Given the description of an element on the screen output the (x, y) to click on. 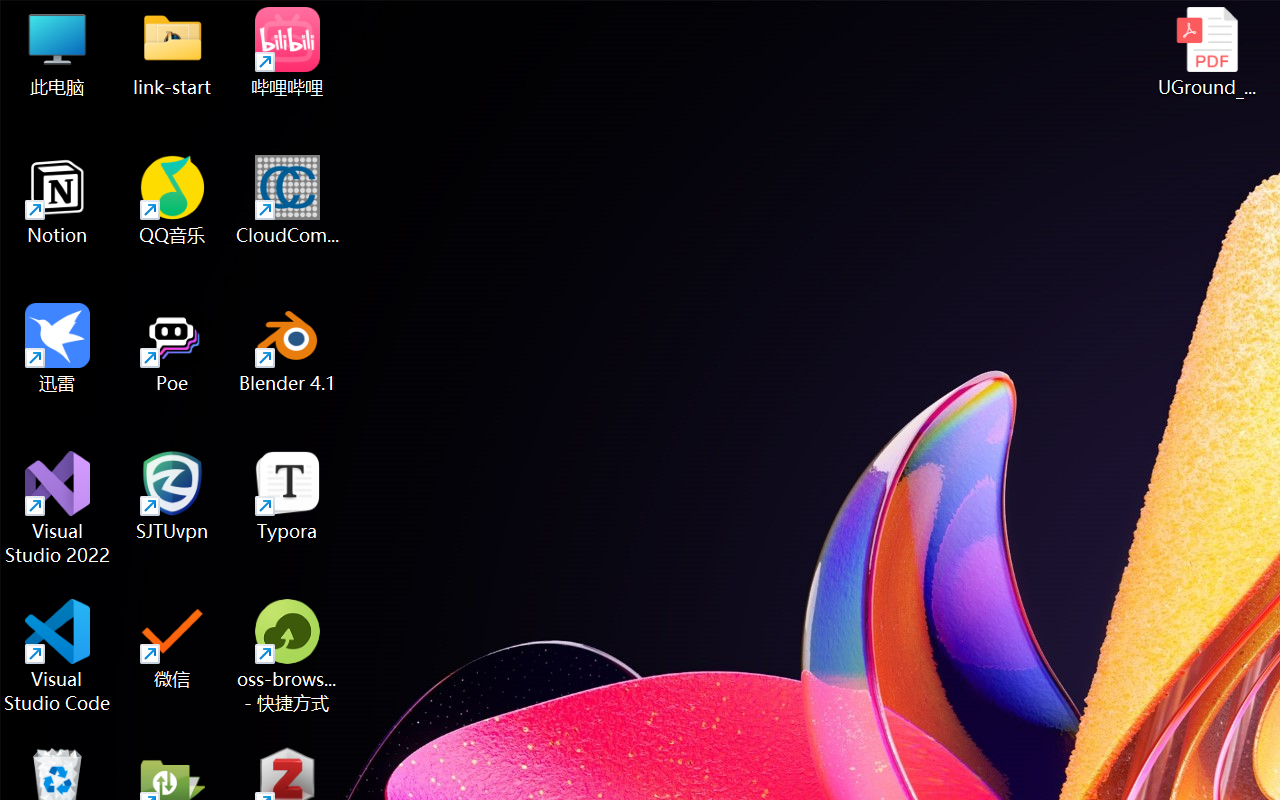
Poe (172, 348)
Visual Studio 2022 (57, 508)
Notion (57, 200)
SJTUvpn (172, 496)
Typora (287, 496)
Visual Studio Code (57, 656)
Blender 4.1 (287, 348)
UGround_paper.pdf (1206, 52)
CloudCompare (287, 200)
